Given the description of an element on the screen output the (x, y) to click on. 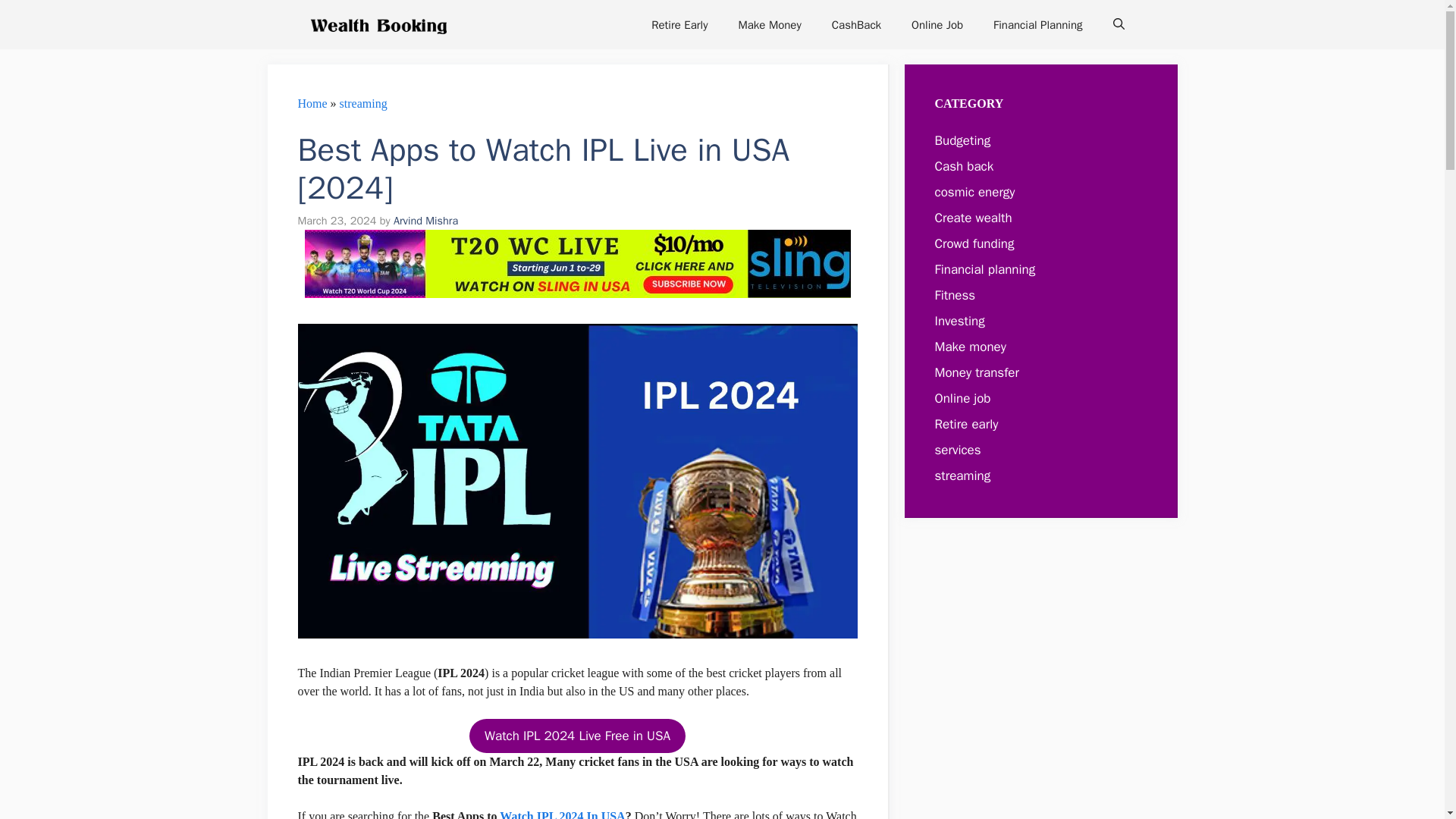
Watch IPL 2024 Live Free in USA (576, 736)
Watch IPL 2024 In USA (561, 814)
View all posts by Arvind Mishra (425, 220)
streaming (363, 103)
Home (311, 103)
Online Job (937, 23)
Arvind Mishra (425, 220)
WealthBooking (378, 24)
Make Money (768, 23)
Financial Planning (1037, 23)
Retire Early (679, 23)
CashBack (856, 23)
